Given the description of an element on the screen output the (x, y) to click on. 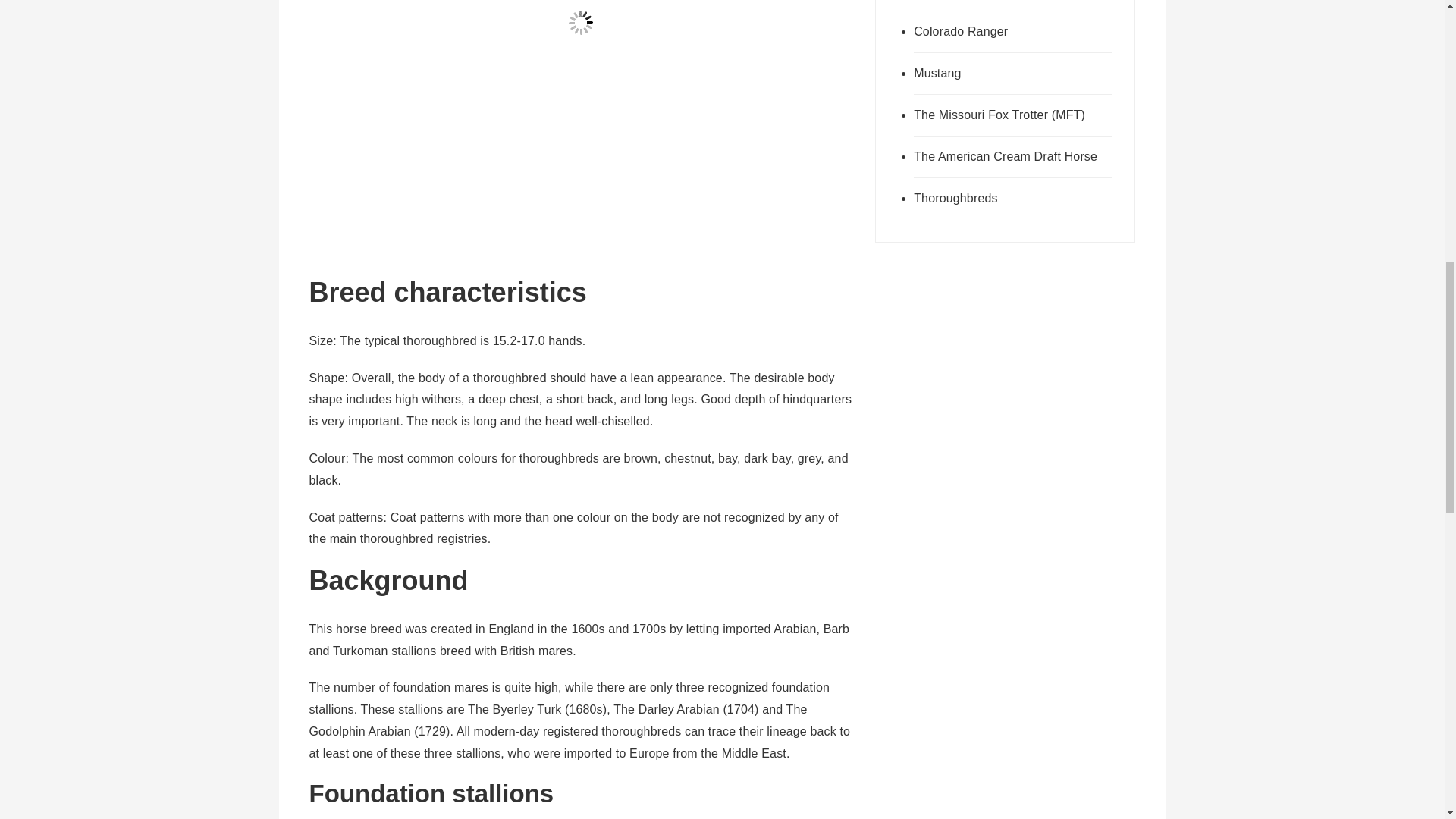
The American Cream Draft Horse (1013, 157)
Colorado Ranger (1013, 32)
Chincoteague pony (1013, 5)
Mustang (1013, 74)
Thoroughbreds (1013, 198)
